Given the description of an element on the screen output the (x, y) to click on. 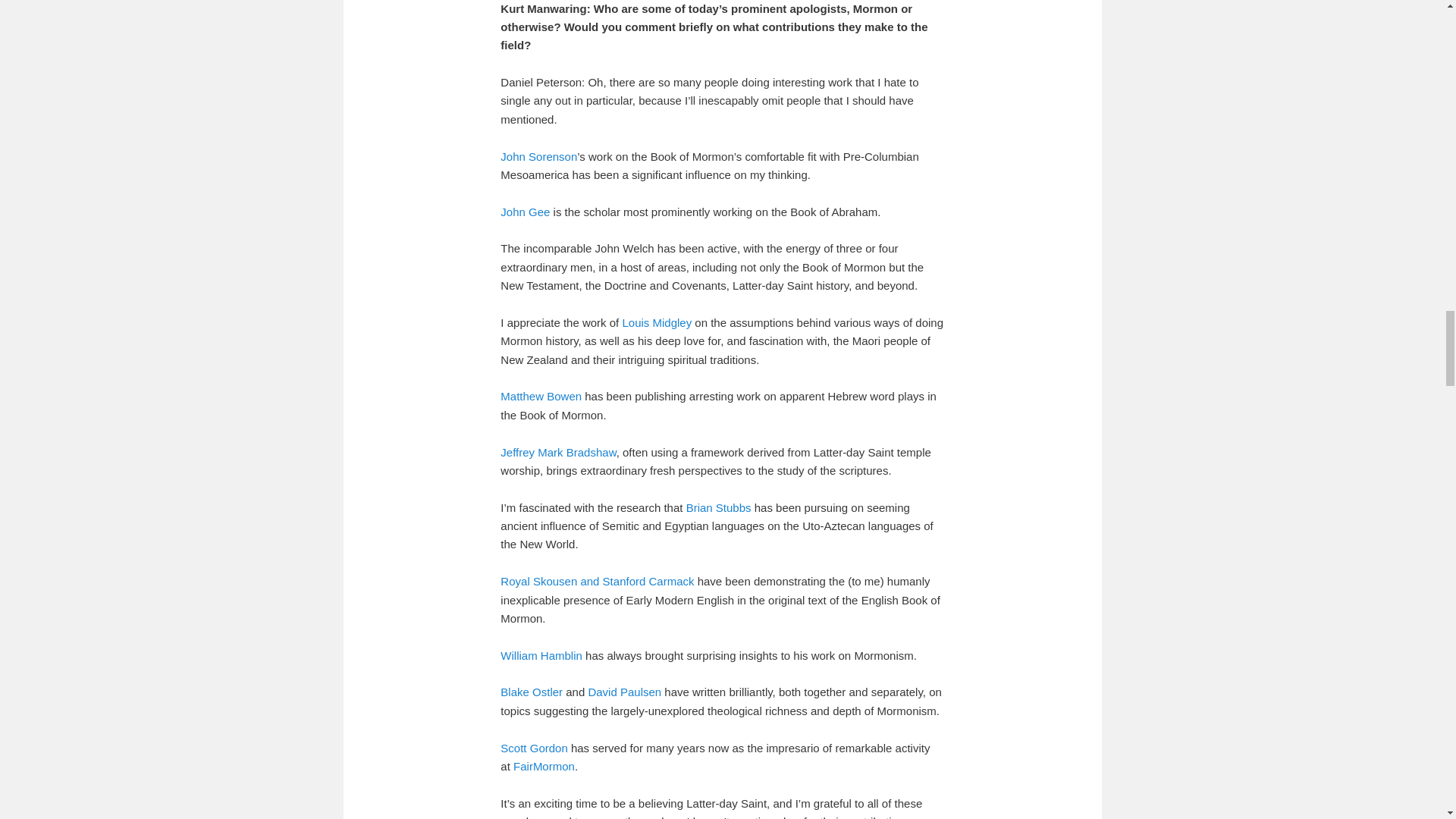
John Sorenson (538, 155)
John Gee (525, 211)
Matthew Bowen (540, 395)
Louis Midgley (656, 322)
Jeffrey Mark Bradshaw (557, 451)
Blake Ostler (531, 691)
William Hamblin (541, 655)
Brian Stubbs (718, 507)
Royal Skousen and Stanford Carmack (597, 581)
